Given the description of an element on the screen output the (x, y) to click on. 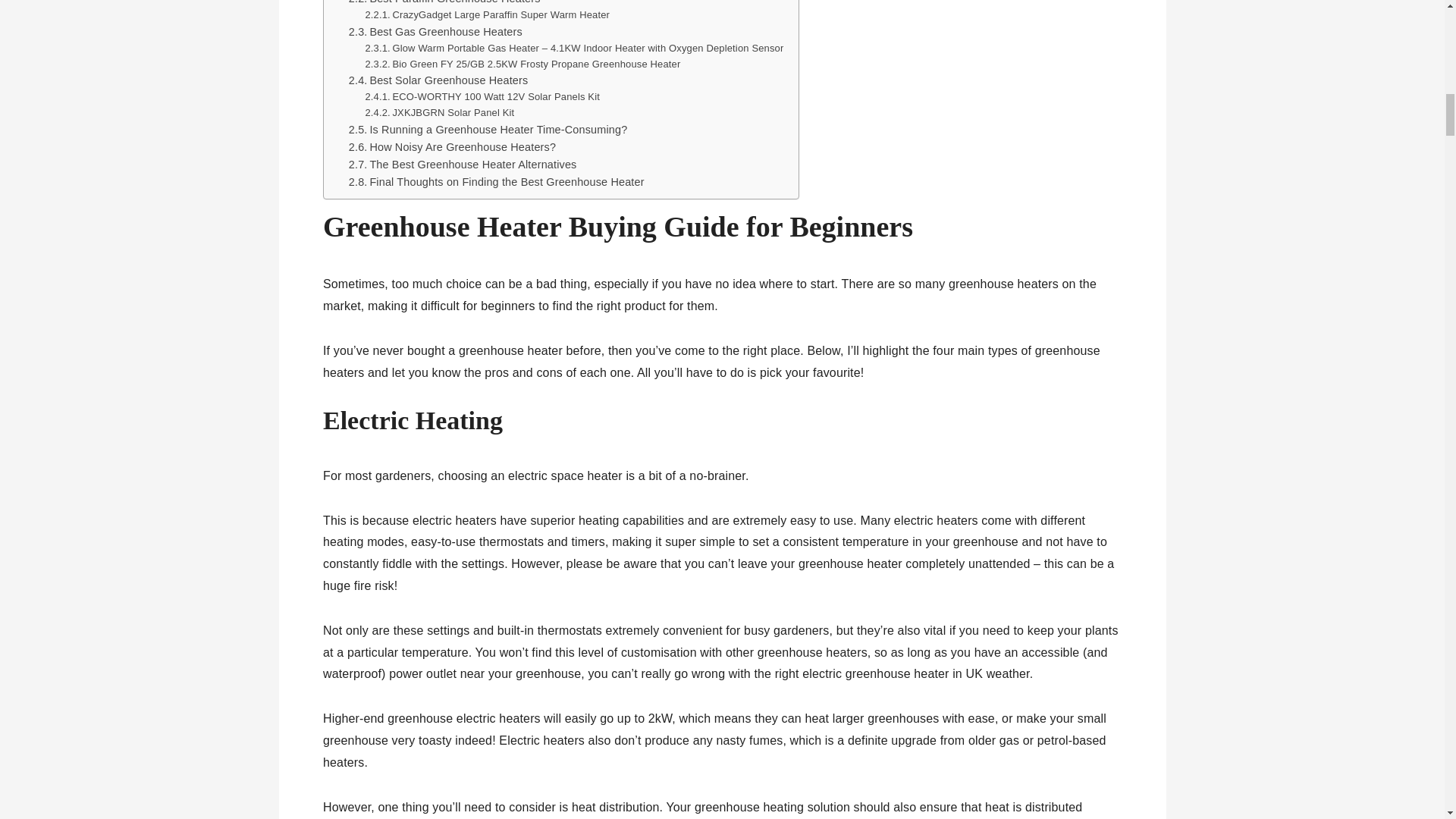
Best Paraffin Greenhouse Heaters (444, 3)
CrazyGadget Large Paraffin Super Warm Heater (487, 15)
